Given the description of an element on the screen output the (x, y) to click on. 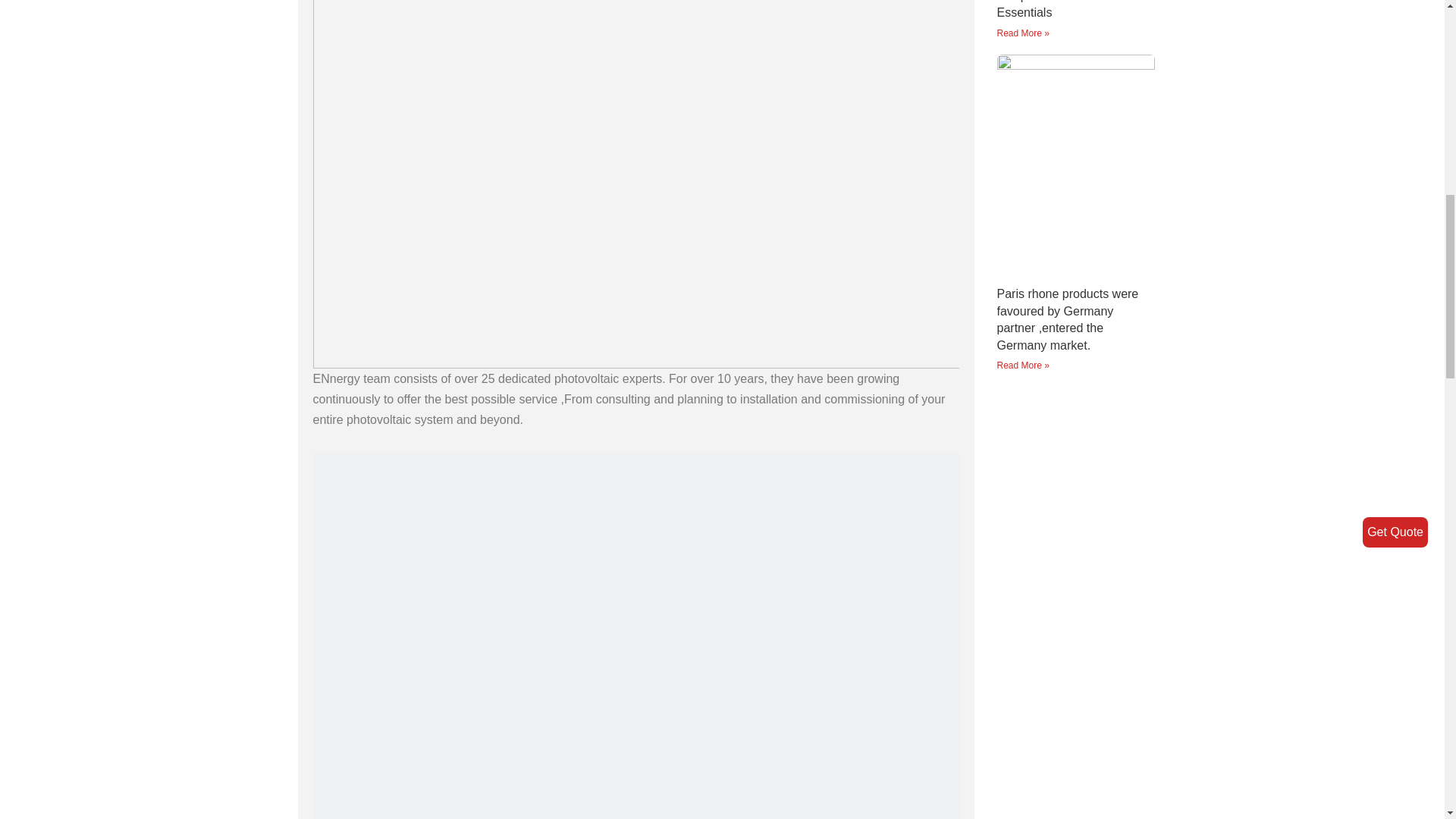
Brighten the Future: Energy-Independent Home Essentials (1072, 9)
